Given the description of an element on the screen output the (x, y) to click on. 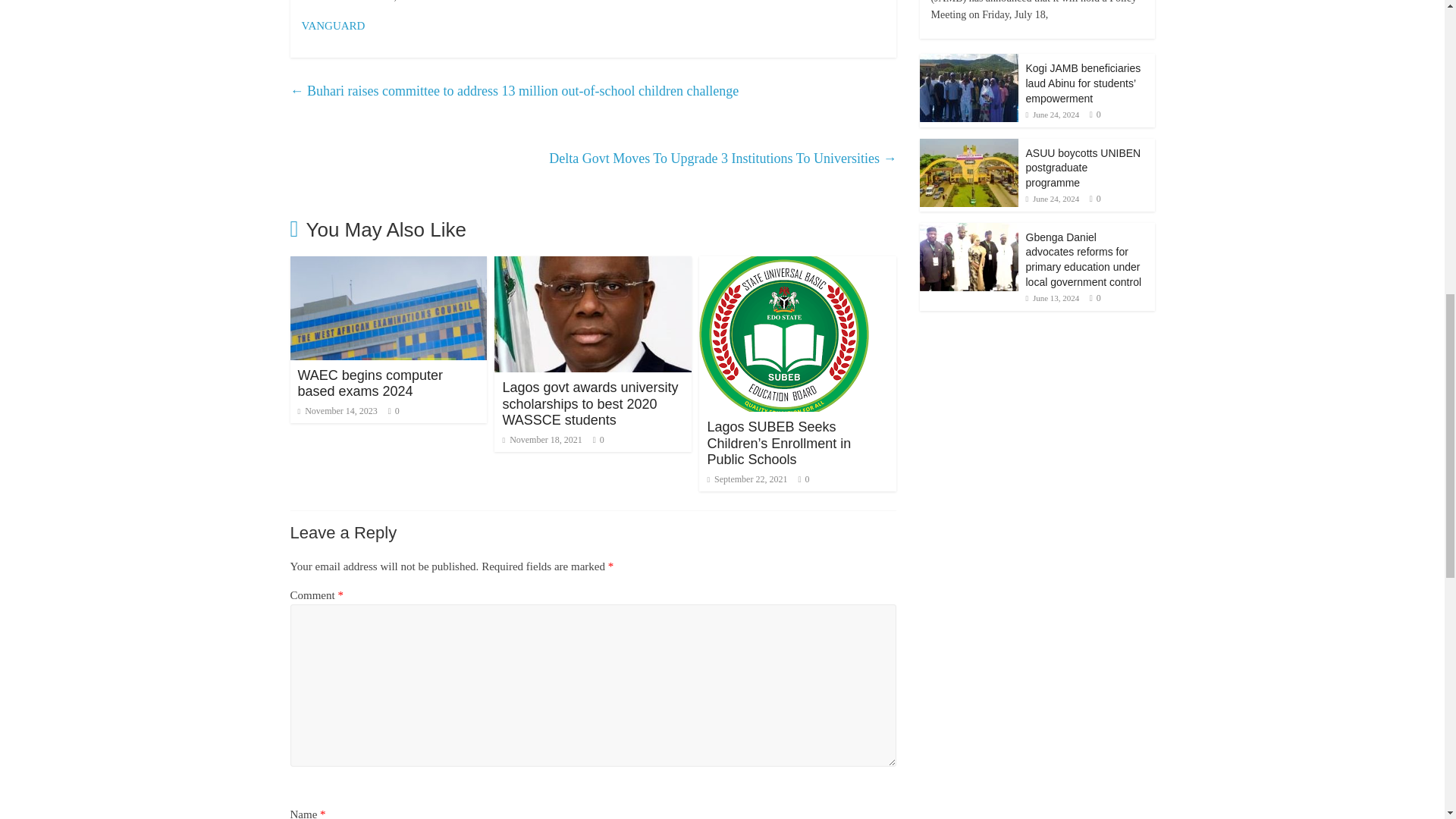
9:36 am (337, 410)
November 14, 2023 (337, 410)
WAEC begins computer based exams 2024 (387, 265)
November 18, 2021 (541, 439)
WAEC begins computer based exams 2024 (369, 383)
WAEC begins computer based exams 2024 (369, 383)
VANGUARD (333, 25)
